Given the description of an element on the screen output the (x, y) to click on. 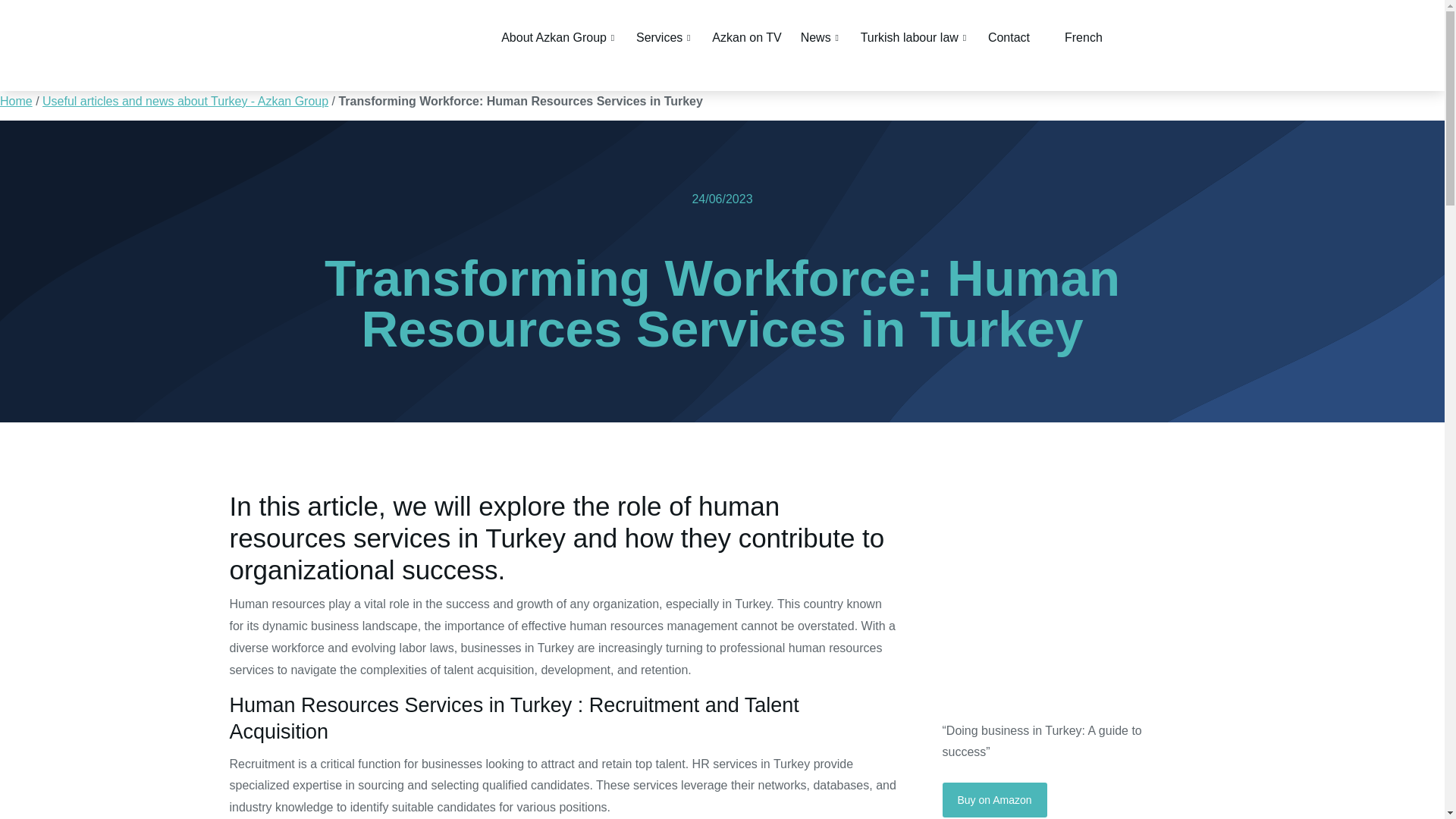
Contact (1008, 37)
News (820, 37)
About Azkan Group (558, 37)
Turkish labour law (914, 37)
French (1075, 37)
Services (664, 37)
Azkan on TV (745, 37)
